Given the description of an element on the screen output the (x, y) to click on. 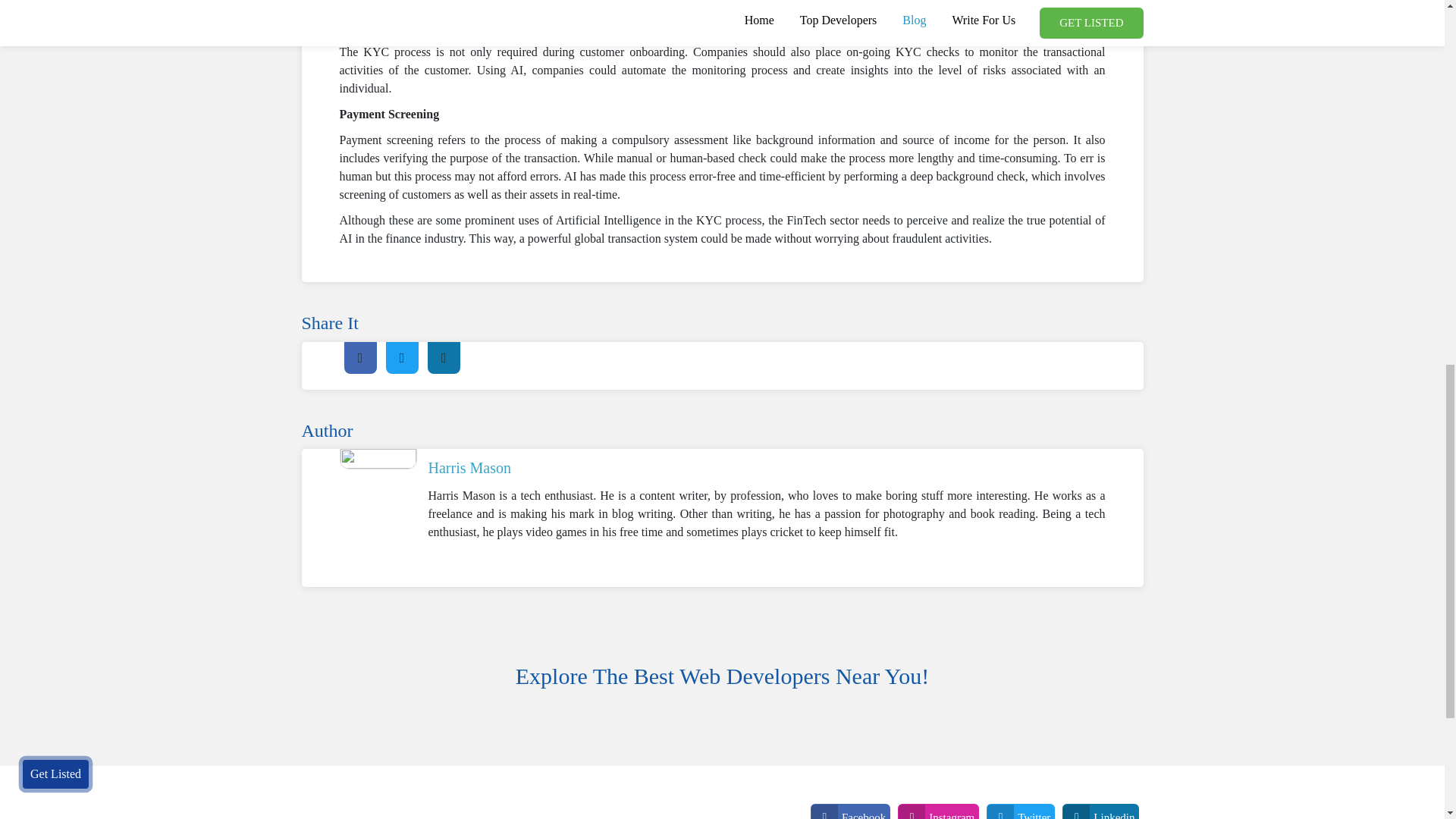
Facebook (849, 811)
Linkedin (1100, 811)
Twitter (1020, 811)
Instagram (938, 811)
